Given the description of an element on the screen output the (x, y) to click on. 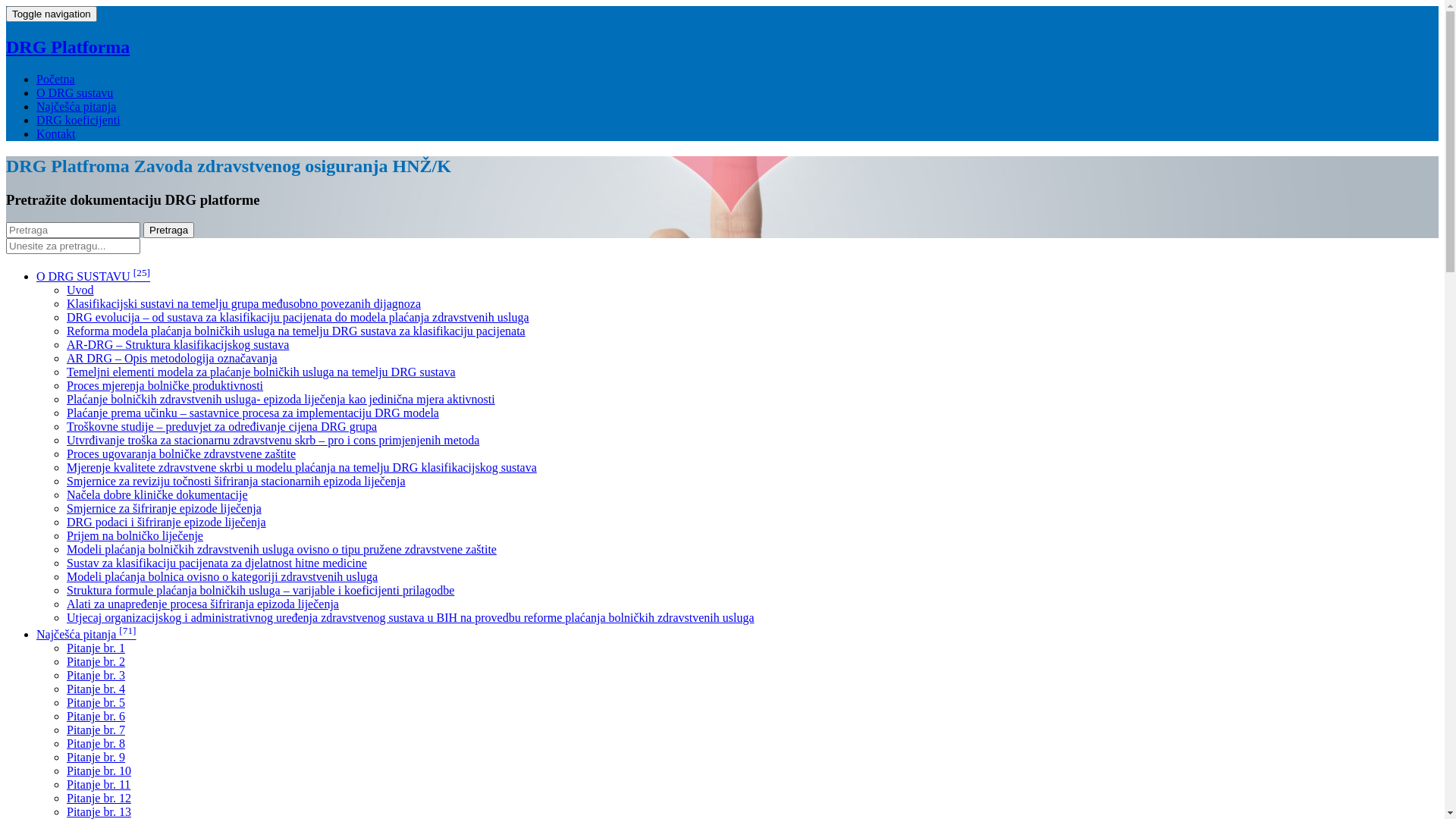
Pretraga za: Element type: hover (73, 230)
Pitanje br. 12 Element type: text (98, 797)
Kontakt Element type: text (55, 133)
Pitanje br. 9 Element type: text (95, 756)
Toggle navigation Element type: text (51, 13)
Pitanje br. 1 Element type: text (95, 647)
Pretraga Element type: text (168, 230)
Pitanje br. 13 Element type: text (98, 811)
Uvod Element type: text (80, 289)
O DRG sustavu Element type: text (74, 92)
O DRG SUSTAVU [25] Element type: text (93, 275)
Pitanje br. 5 Element type: text (95, 702)
Pitanje br. 2 Element type: text (95, 661)
Pitanje br. 3 Element type: text (95, 674)
DRG Platforma Element type: text (67, 46)
Pitanje br. 6 Element type: text (95, 715)
Pitanje br. 4 Element type: text (95, 688)
Pitanje br. 8 Element type: text (95, 743)
DRG koeficijenti Element type: text (78, 119)
Pitanje br. 7 Element type: text (95, 729)
Pitanje br. 10 Element type: text (98, 770)
Pitanje br. 11 Element type: text (98, 784)
